Given the description of an element on the screen output the (x, y) to click on. 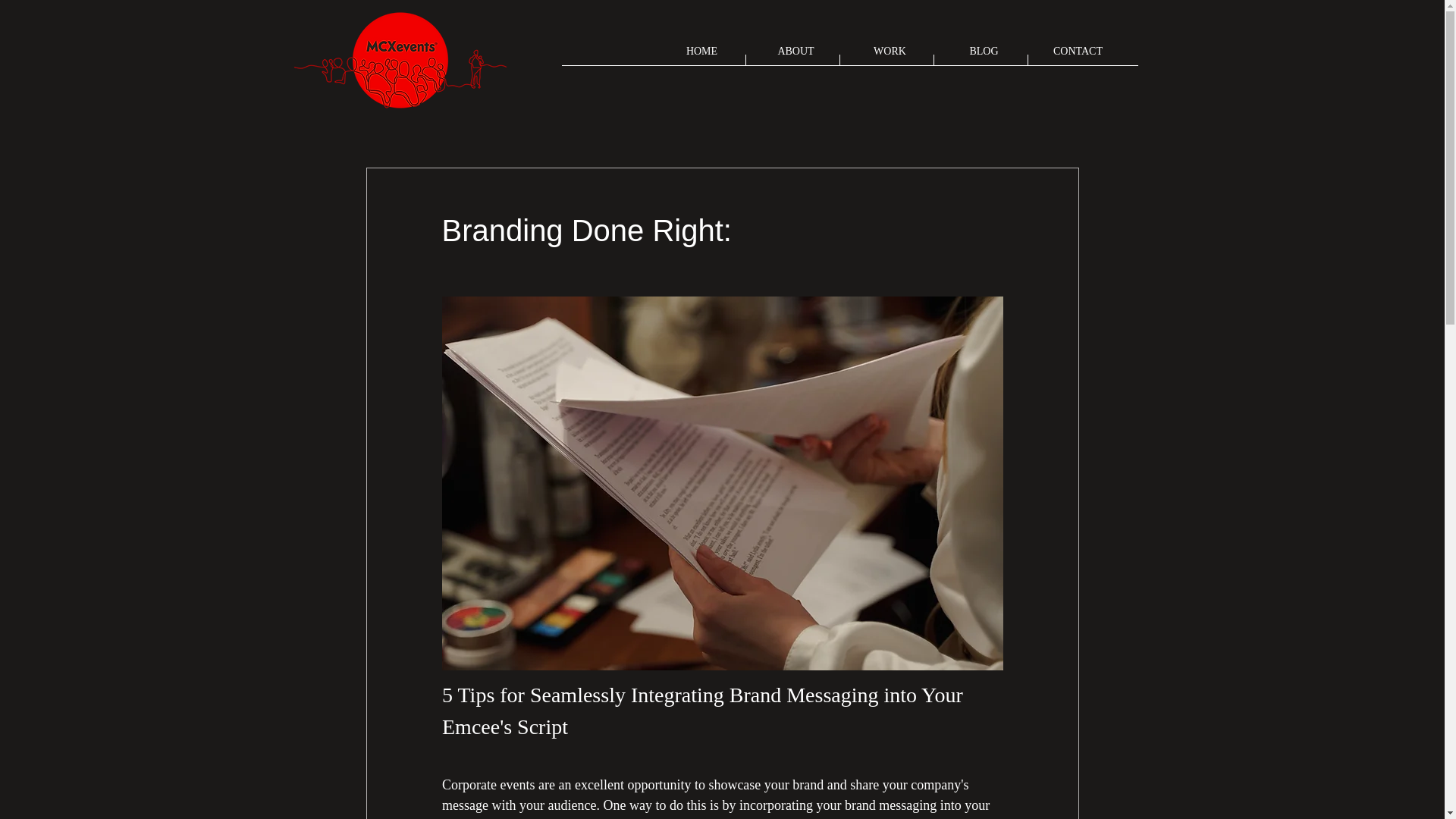
ABOUT (796, 55)
BLOG (983, 55)
WORK (890, 55)
HOME (702, 55)
CONTACT (1077, 55)
